Given the description of an element on the screen output the (x, y) to click on. 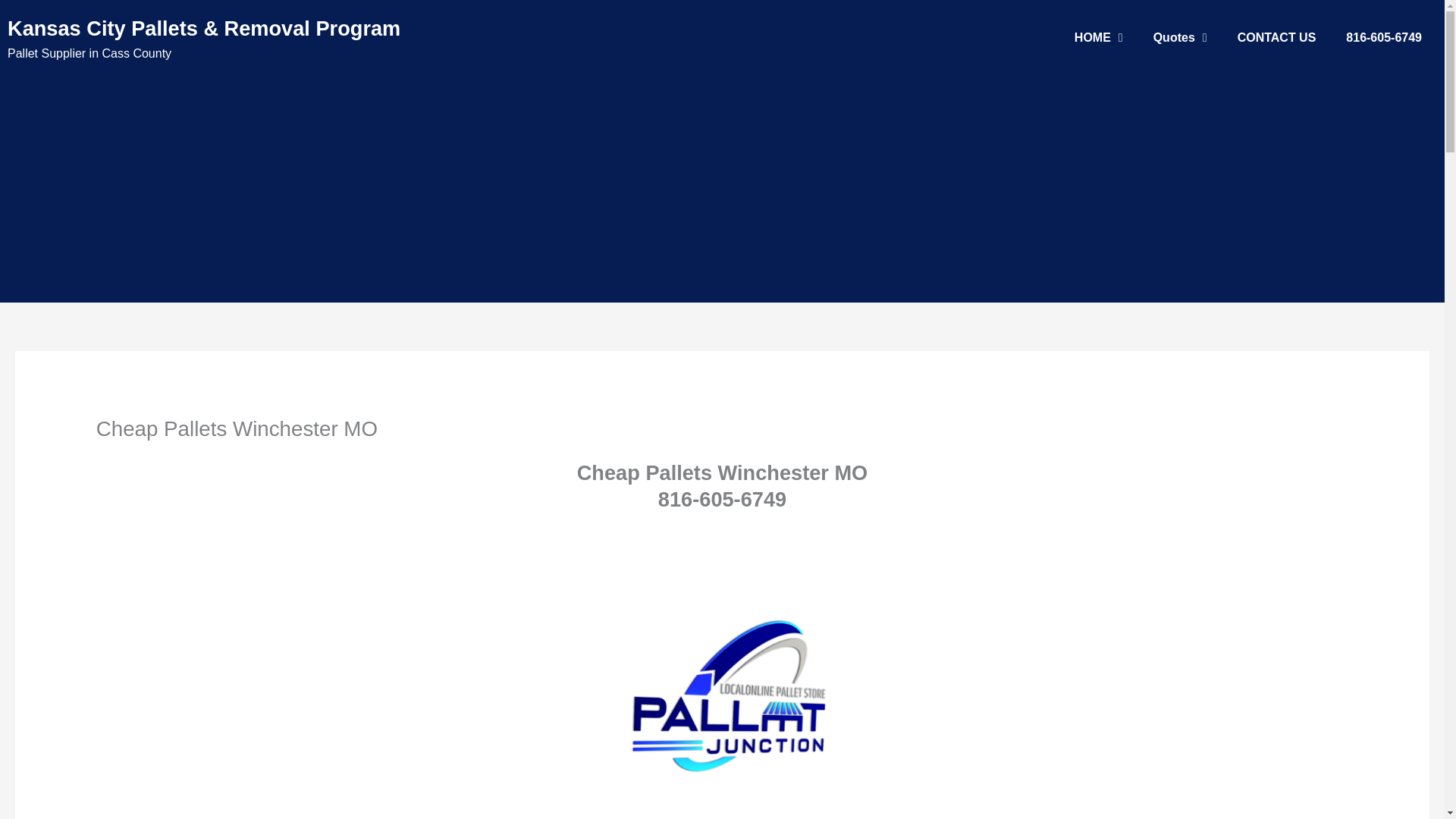
HOME (1098, 37)
816-605-6749 (1383, 37)
CONTACT US (1277, 37)
Quotes (1180, 37)
